Given the description of an element on the screen output the (x, y) to click on. 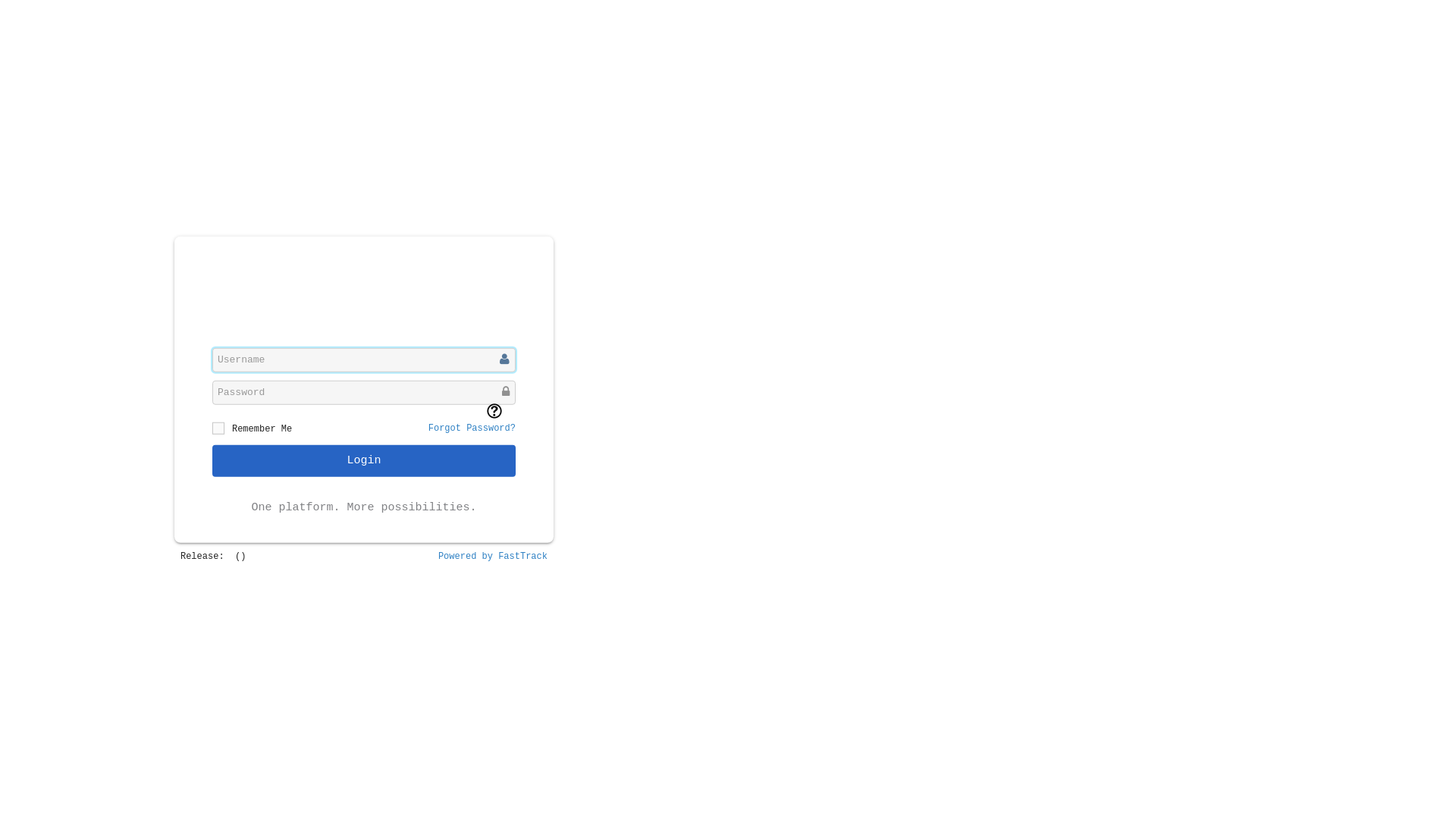
Forgot Password? Element type: text (471, 427)
Login Element type: text (363, 460)
Powered by FastTrack Element type: text (492, 556)
What is CAPTCHA?  Click to view a short video. Element type: hover (494, 410)
